Given the description of an element on the screen output the (x, y) to click on. 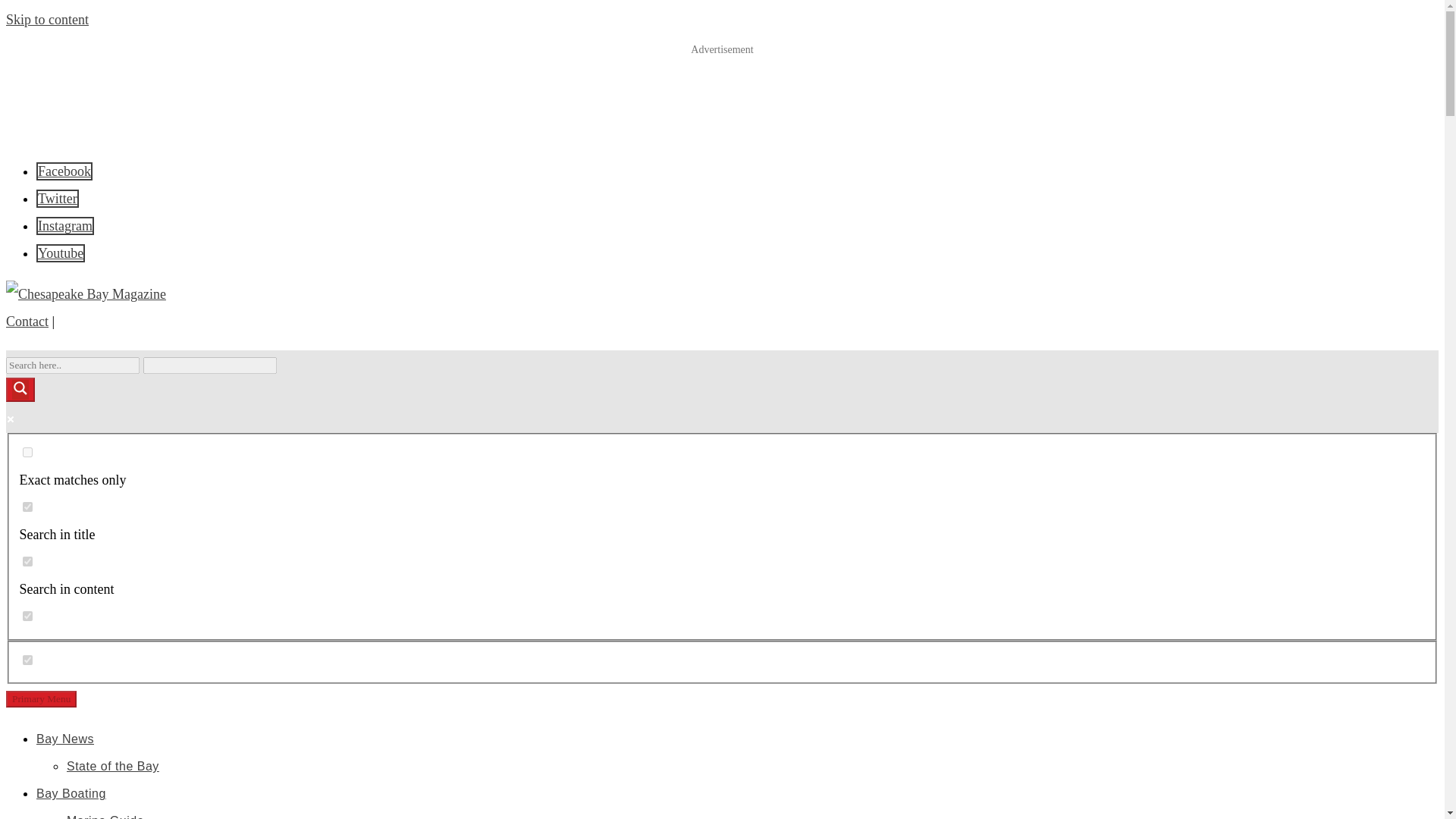
Chesapeake Bay Magazine (93, 330)
Marina Guide (105, 816)
post (27, 660)
Primary Menu (41, 699)
Instagram (65, 226)
Start search (285, 359)
Bay Boating (71, 793)
Bay News (65, 738)
Twitter (57, 198)
excerpt (27, 615)
